Given the description of an element on the screen output the (x, y) to click on. 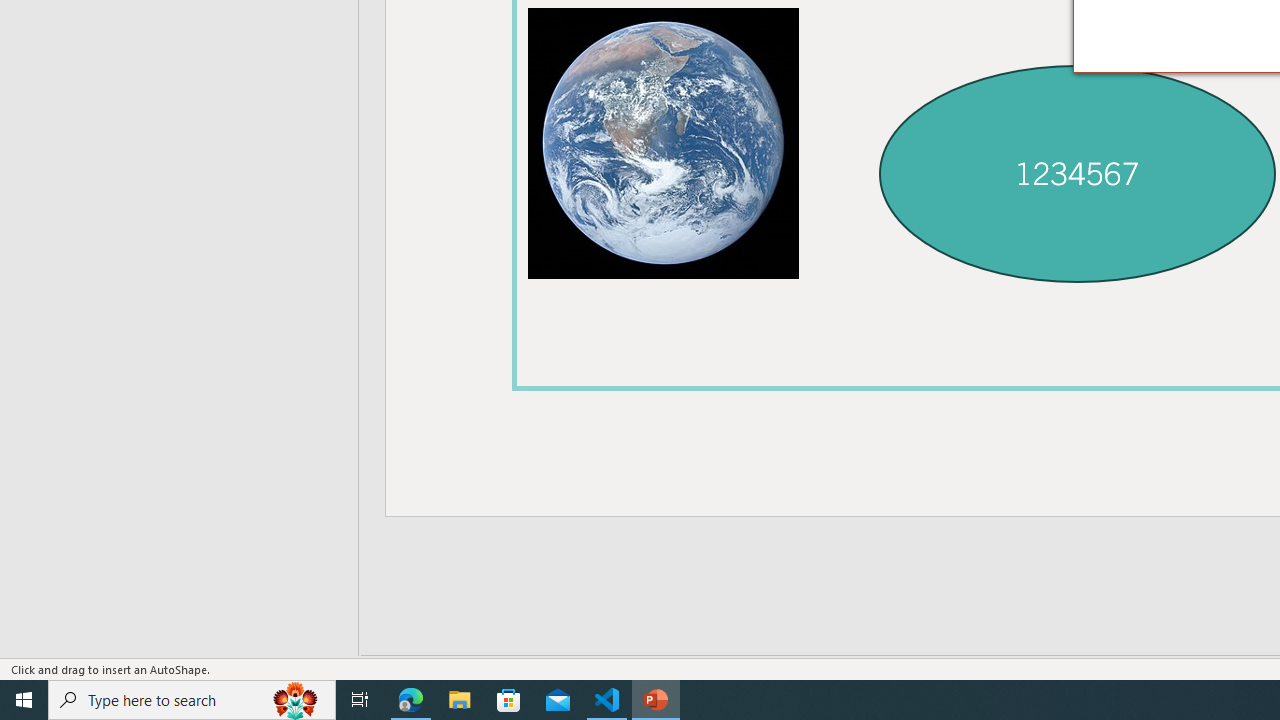
Microsoft Edge - 1 running window (411, 699)
